Given the description of an element on the screen output the (x, y) to click on. 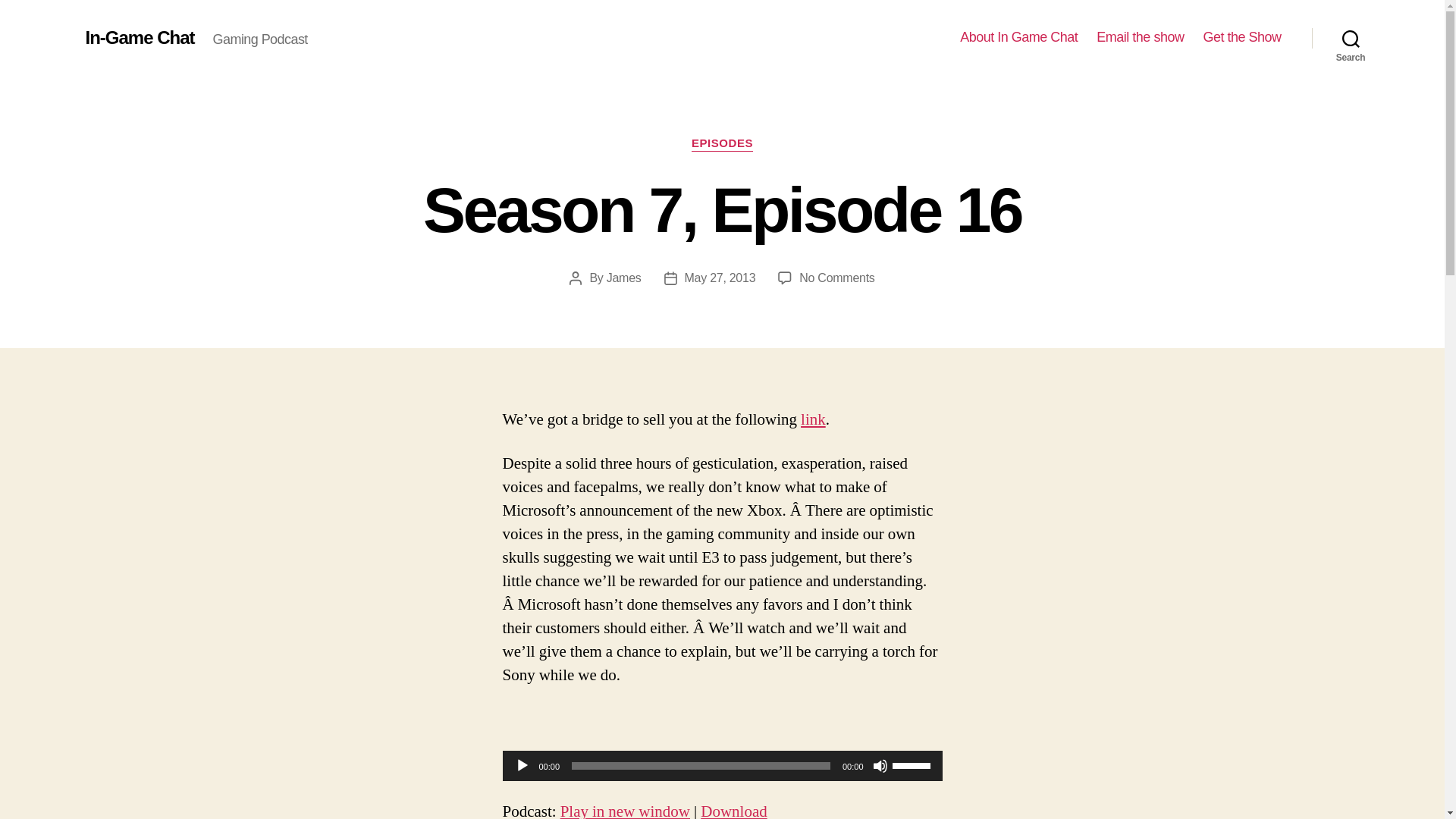
Play in new window (625, 810)
May 27, 2013 (719, 277)
EPISODES (721, 143)
link (812, 419)
In-Game Chat (138, 37)
Play in new window (625, 810)
About In Game Chat (1018, 37)
Download (733, 810)
Download (733, 810)
James (837, 277)
Search (624, 277)
Get the Show (1350, 37)
Play (1241, 37)
Mute (521, 765)
